Given the description of an element on the screen output the (x, y) to click on. 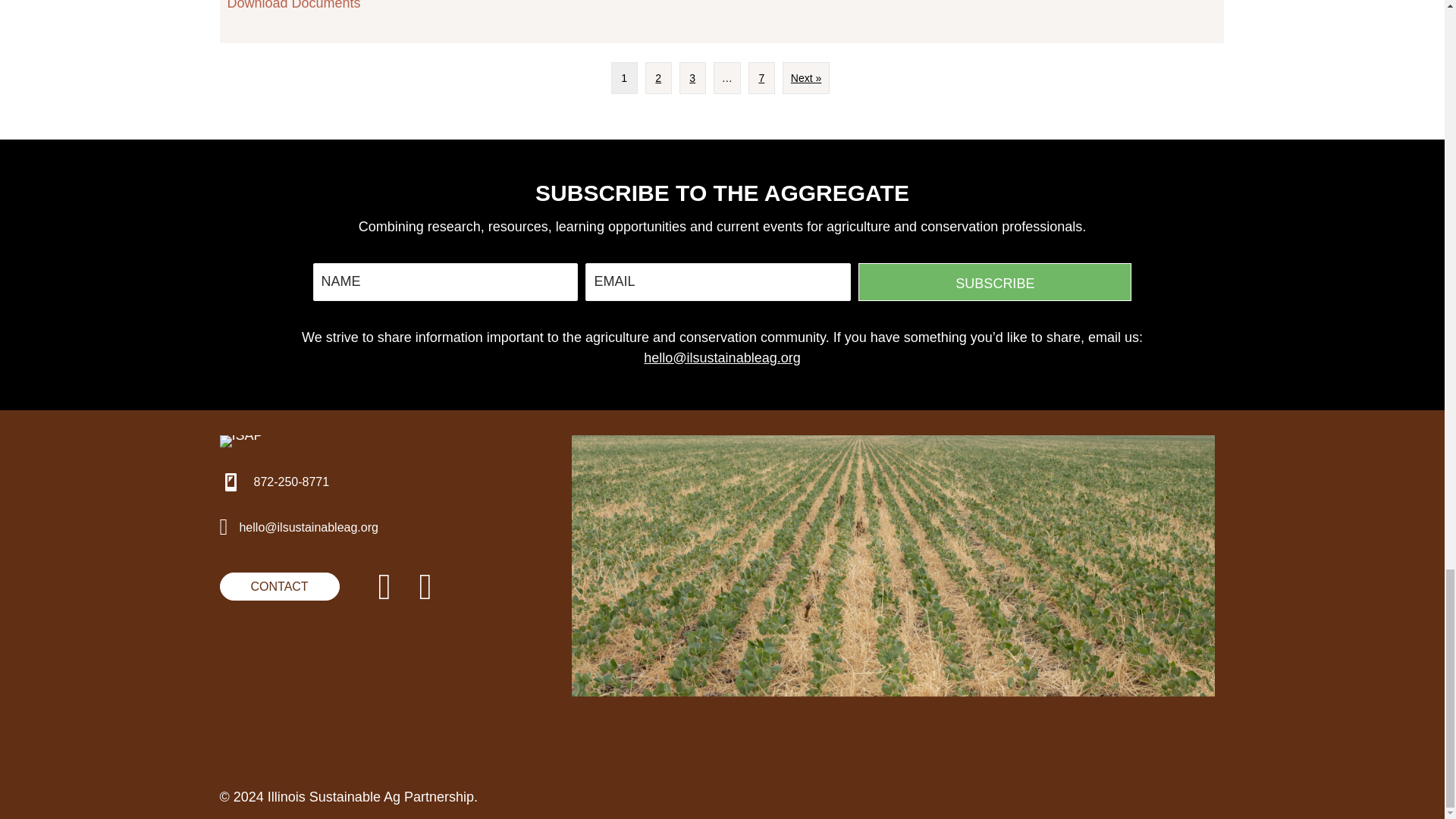
Facebook (425, 587)
White Logo (241, 440)
YouTube (384, 587)
